Given the description of an element on the screen output the (x, y) to click on. 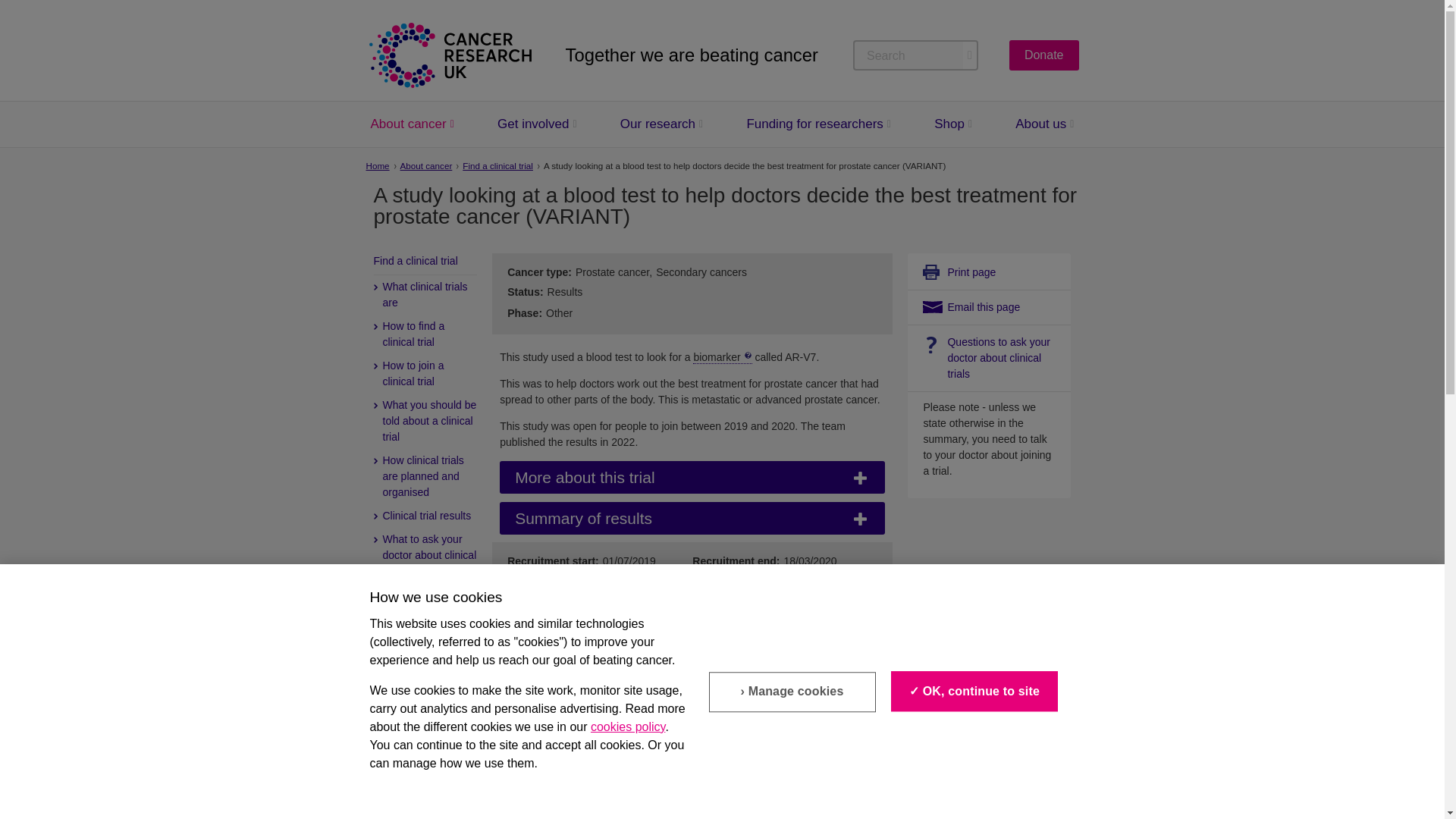
Cancer Research UK Homepage (449, 54)
Get involved (533, 124)
About cancer (407, 124)
Donate (1043, 55)
